Given the description of an element on the screen output the (x, y) to click on. 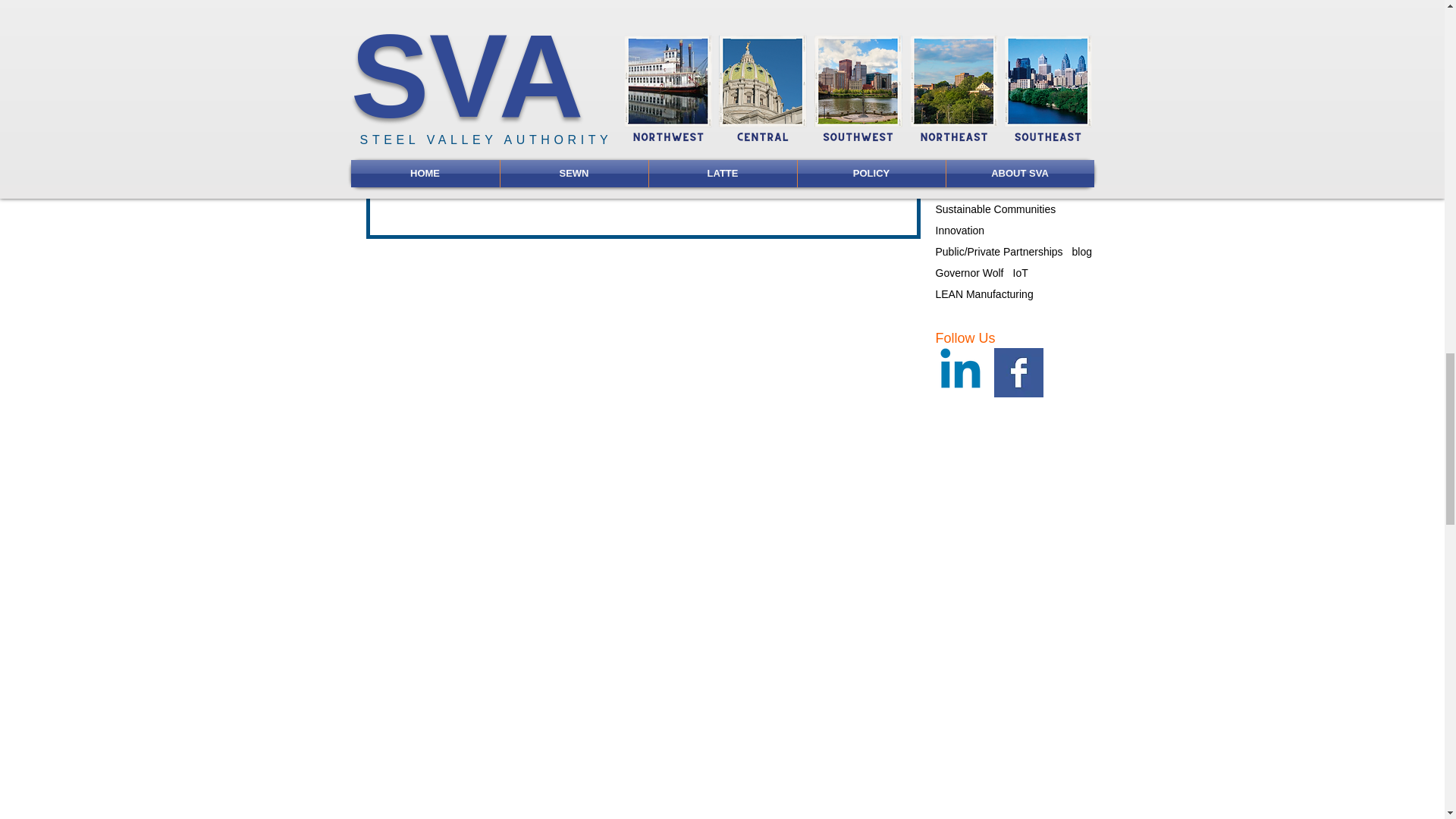
Diversification (438, 81)
Manufacturing Strategies (666, 136)
Pennsylvania Manufacturing (808, 136)
Post not marked as liked (867, 181)
